Given the description of an element on the screen output the (x, y) to click on. 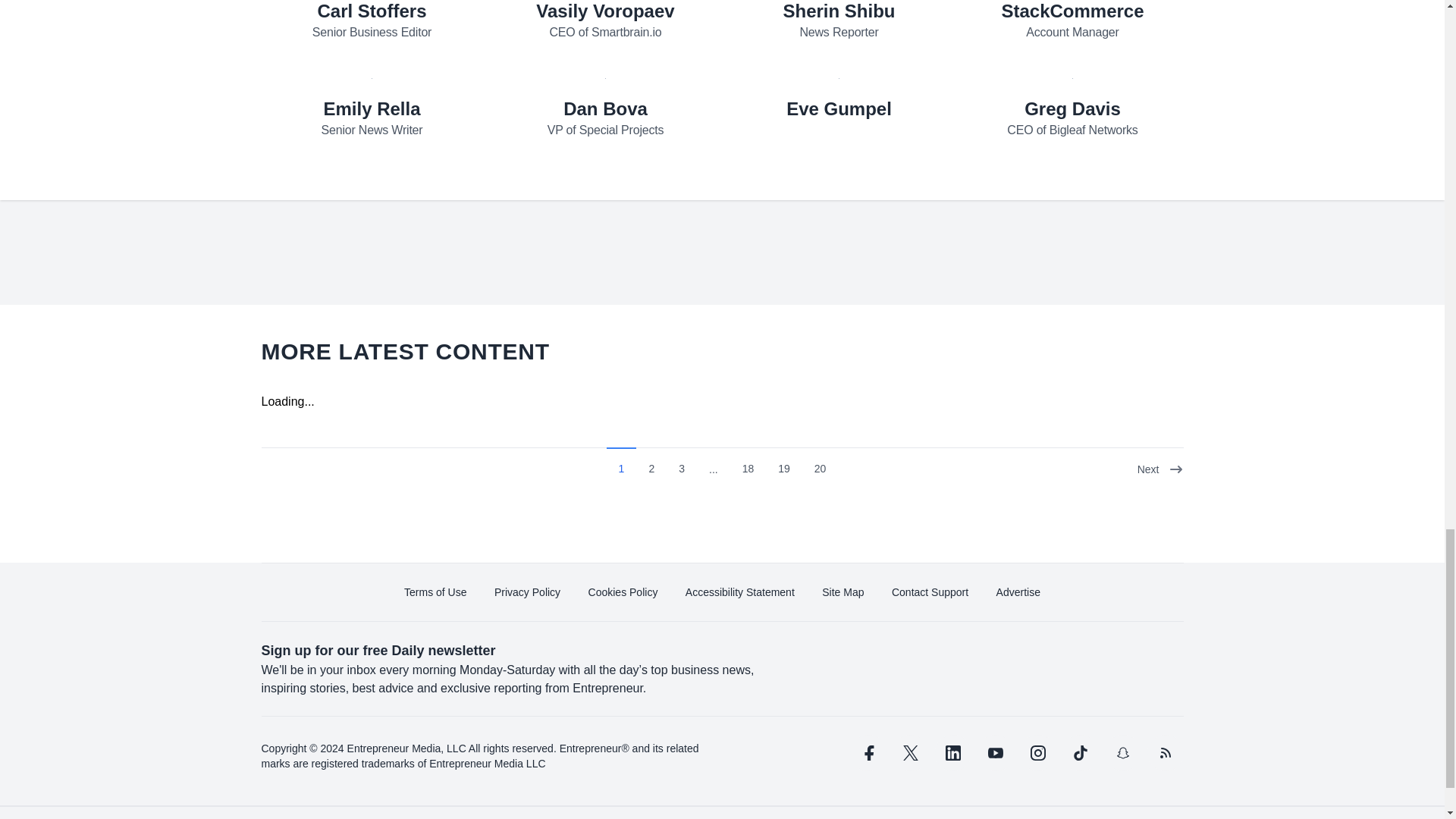
twitter (909, 752)
youtube (994, 752)
rss (1164, 752)
linkedin (952, 752)
facebook (866, 752)
tiktok (1079, 752)
snapchat (1121, 752)
instagram (1037, 752)
